Given the description of an element on the screen output the (x, y) to click on. 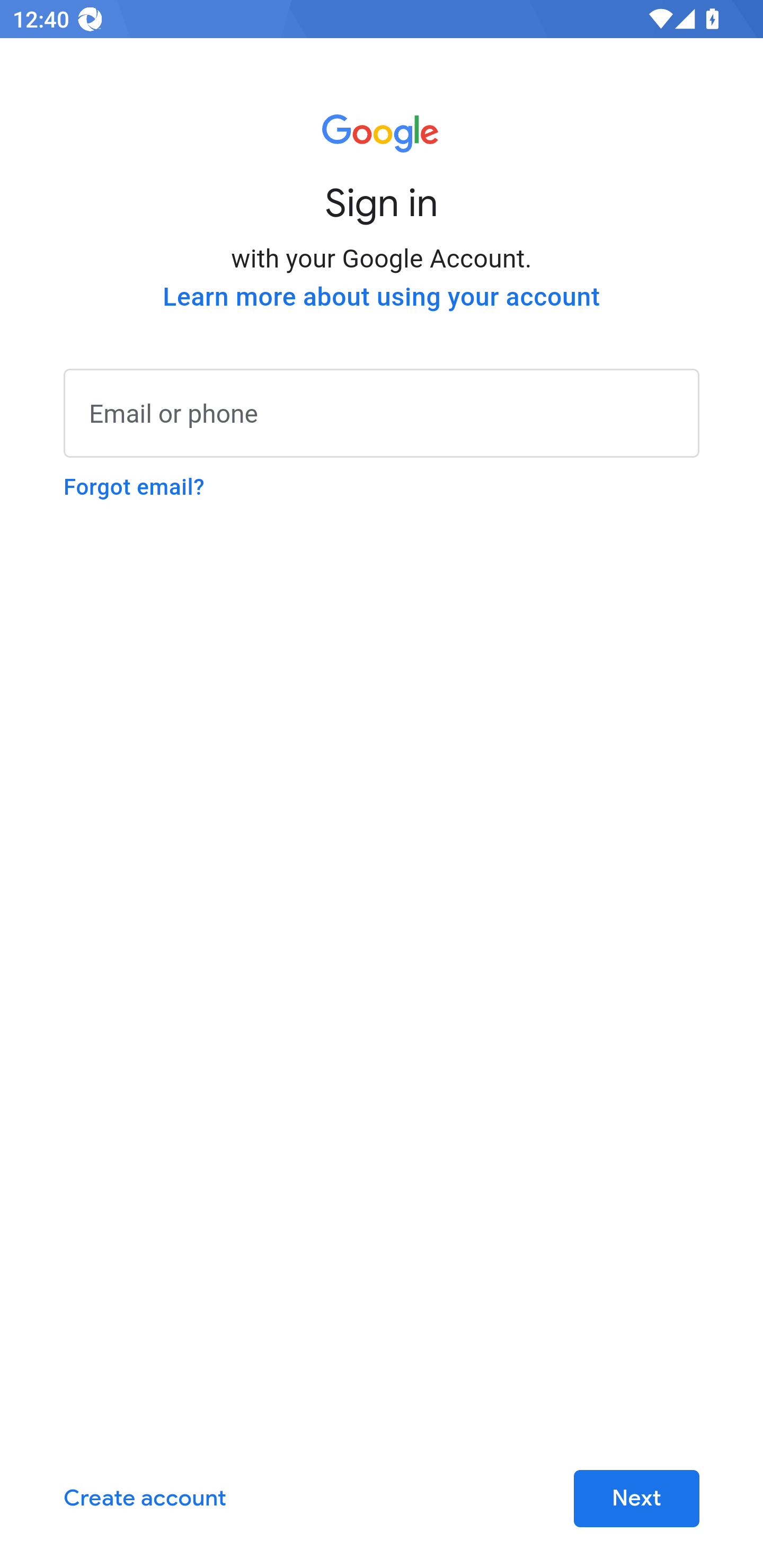
Learn more about using your account (381, 296)
Forgot email? (133, 486)
Create account (145, 1498)
Next (635, 1498)
